Given the description of an element on the screen output the (x, y) to click on. 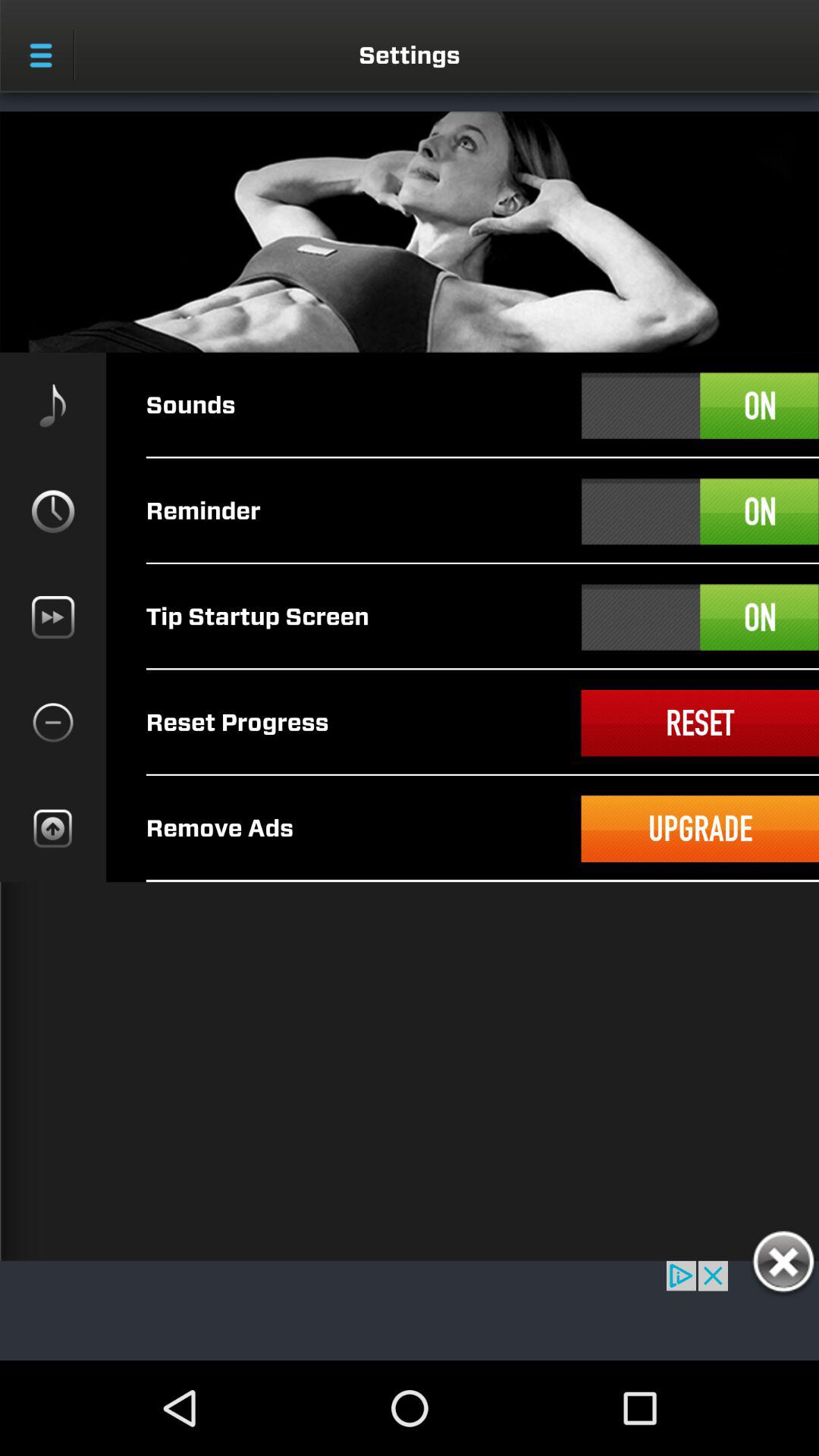
close this box (783, 1264)
